Given the description of an element on the screen output the (x, y) to click on. 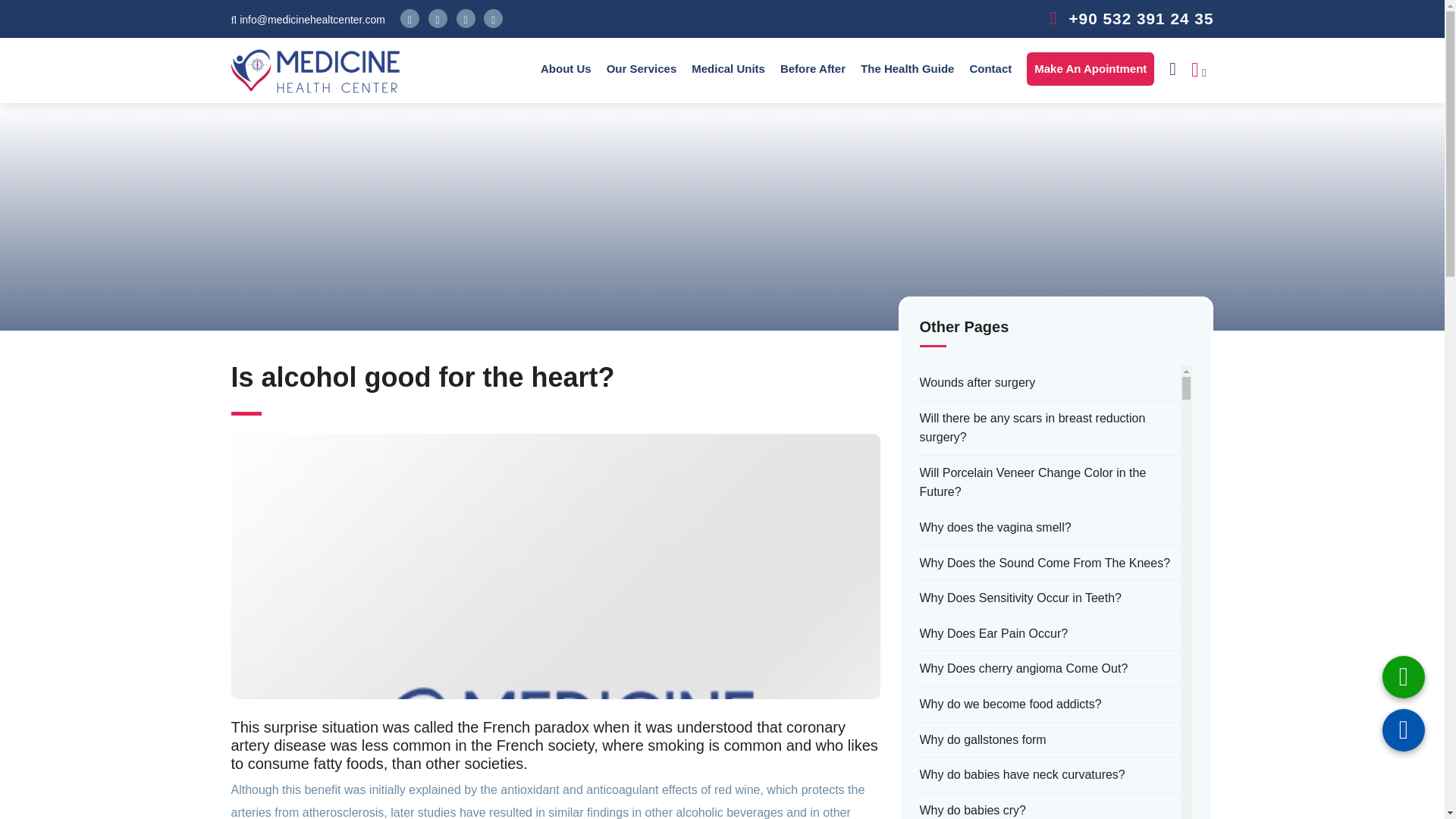
Why do we become food addicts? (1009, 704)
Will Porcelain Veneer Change Color in the Future? (1049, 482)
Medicine Health Center (314, 70)
About Us (565, 68)
Why do babies have neck curvatures? (1021, 774)
Why Does the Sound Come From The Knees? (1044, 563)
Wounds after surgery (976, 383)
The Health Guide (906, 68)
Will there be any scars in breast reduction surgery? (1049, 427)
Before After (813, 68)
